Given the description of an element on the screen output the (x, y) to click on. 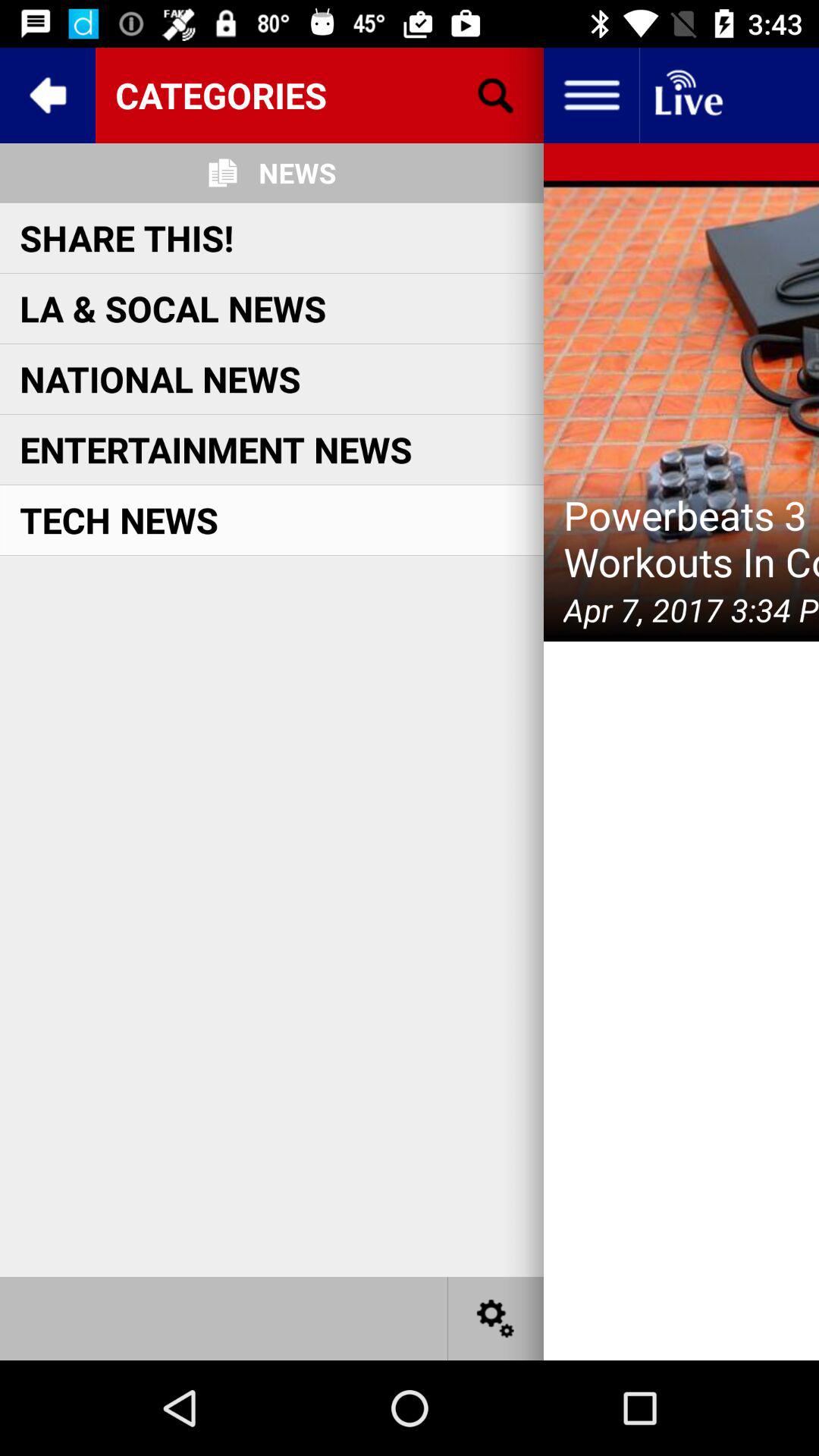
turn off icon to the right of the entertainment news (681, 410)
